Given the description of an element on the screen output the (x, y) to click on. 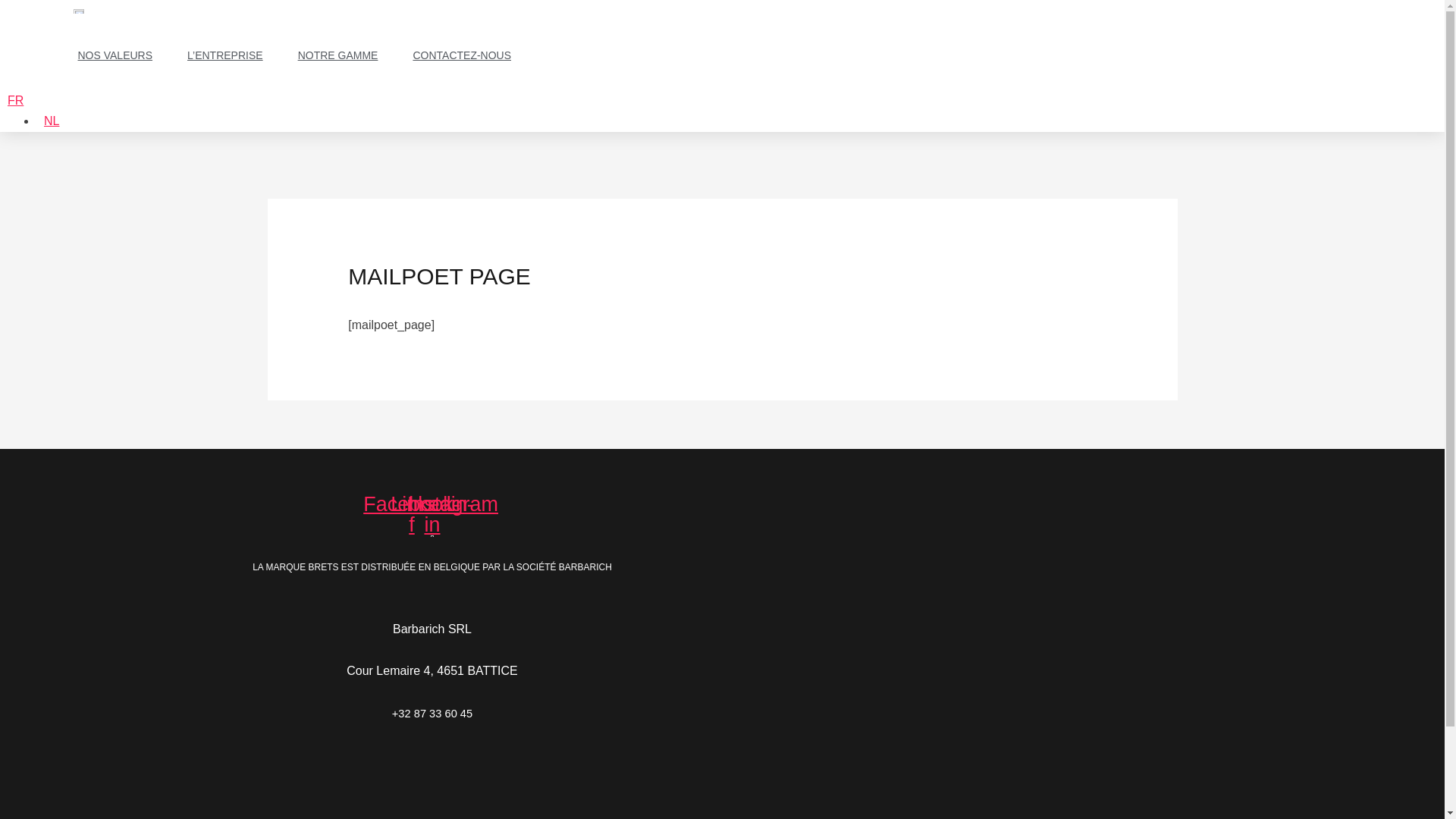
CONTACTEZ-NOUS Element type: text (461, 55)
NOS VALEURS Element type: text (114, 55)
NL Element type: text (47, 120)
NOTRE GAMME Element type: text (337, 55)
FR Element type: text (15, 100)
Instagram Element type: text (452, 504)
Facebook-f Element type: text (411, 514)
FR Element type: text (119, 100)
Linkedin-in Element type: text (431, 514)
